Given the description of an element on the screen output the (x, y) to click on. 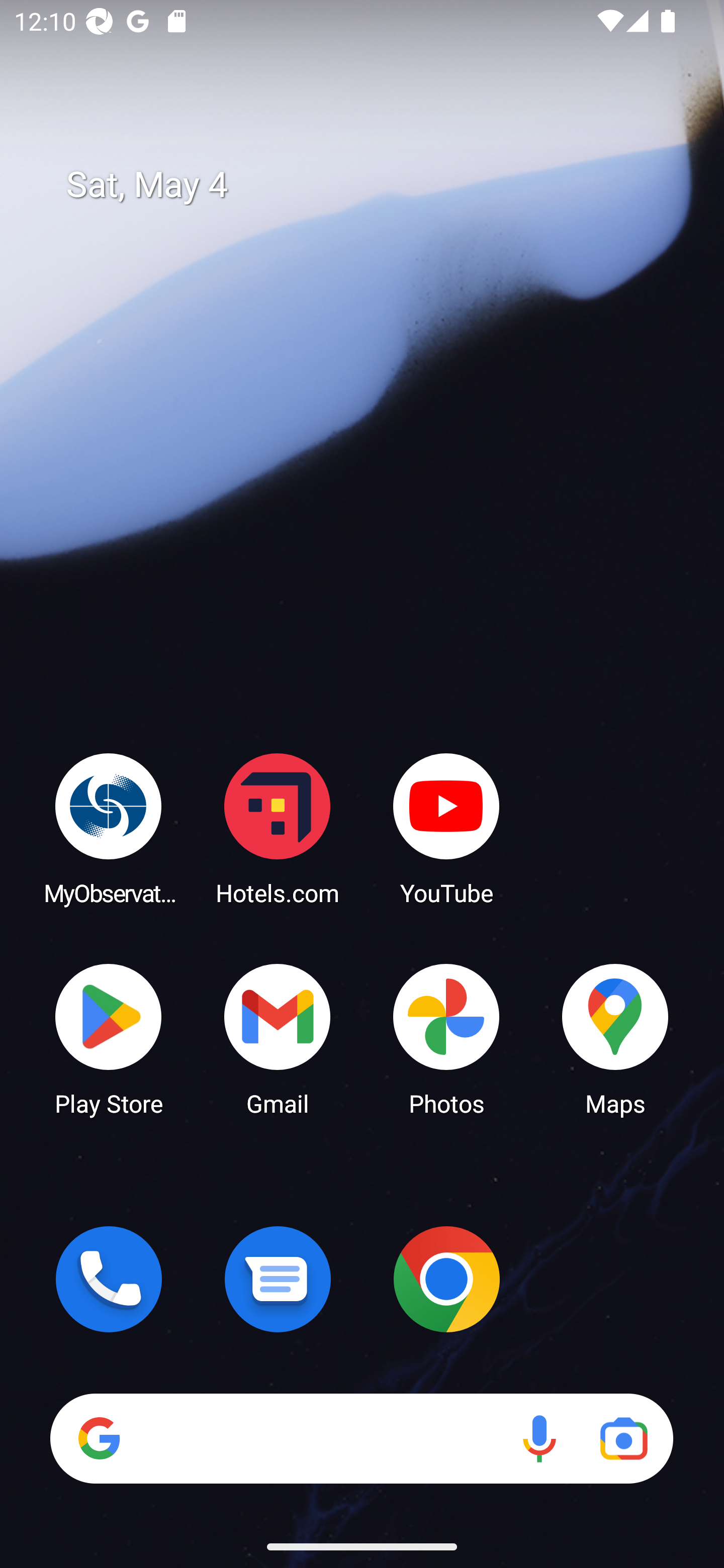
Sat, May 4 (375, 184)
MyObservatory (108, 828)
Hotels.com (277, 828)
YouTube (445, 828)
Play Store (108, 1038)
Gmail (277, 1038)
Photos (445, 1038)
Maps (615, 1038)
Phone (108, 1279)
Messages (277, 1279)
Chrome (446, 1279)
Search Voice search Google Lens (361, 1438)
Voice search (539, 1438)
Google Lens (623, 1438)
